Given the description of an element on the screen output the (x, y) to click on. 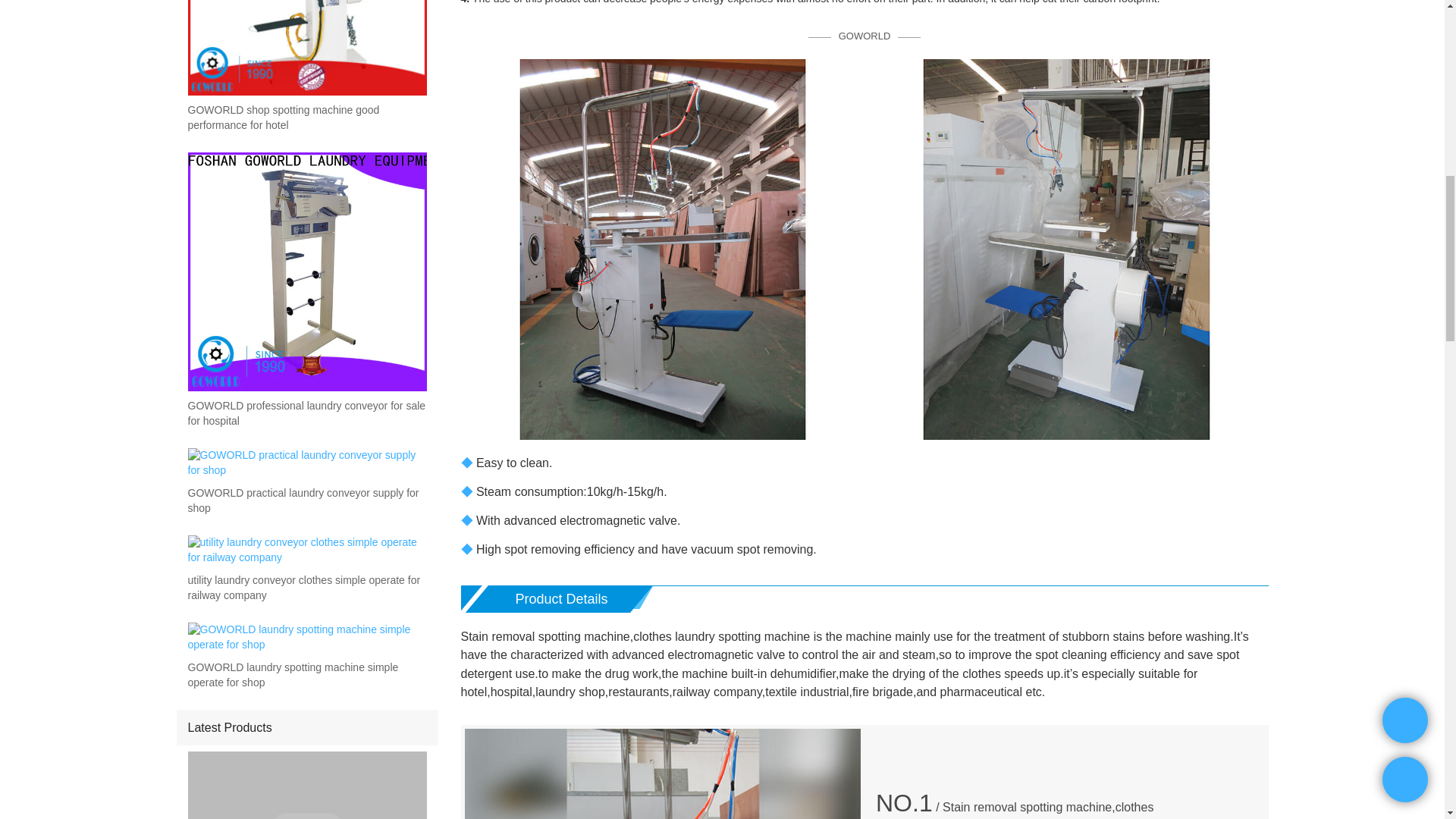
GOWORLD professional laundry conveyor for sale for hospital (306, 413)
GOWORLD shop spotting machine good performance for hotel (306, 118)
GOWORLD practical laundry conveyor supply for shop (306, 501)
GOWORLD laundry spotting machine simple operate for shop (306, 675)
